Given the description of an element on the screen output the (x, y) to click on. 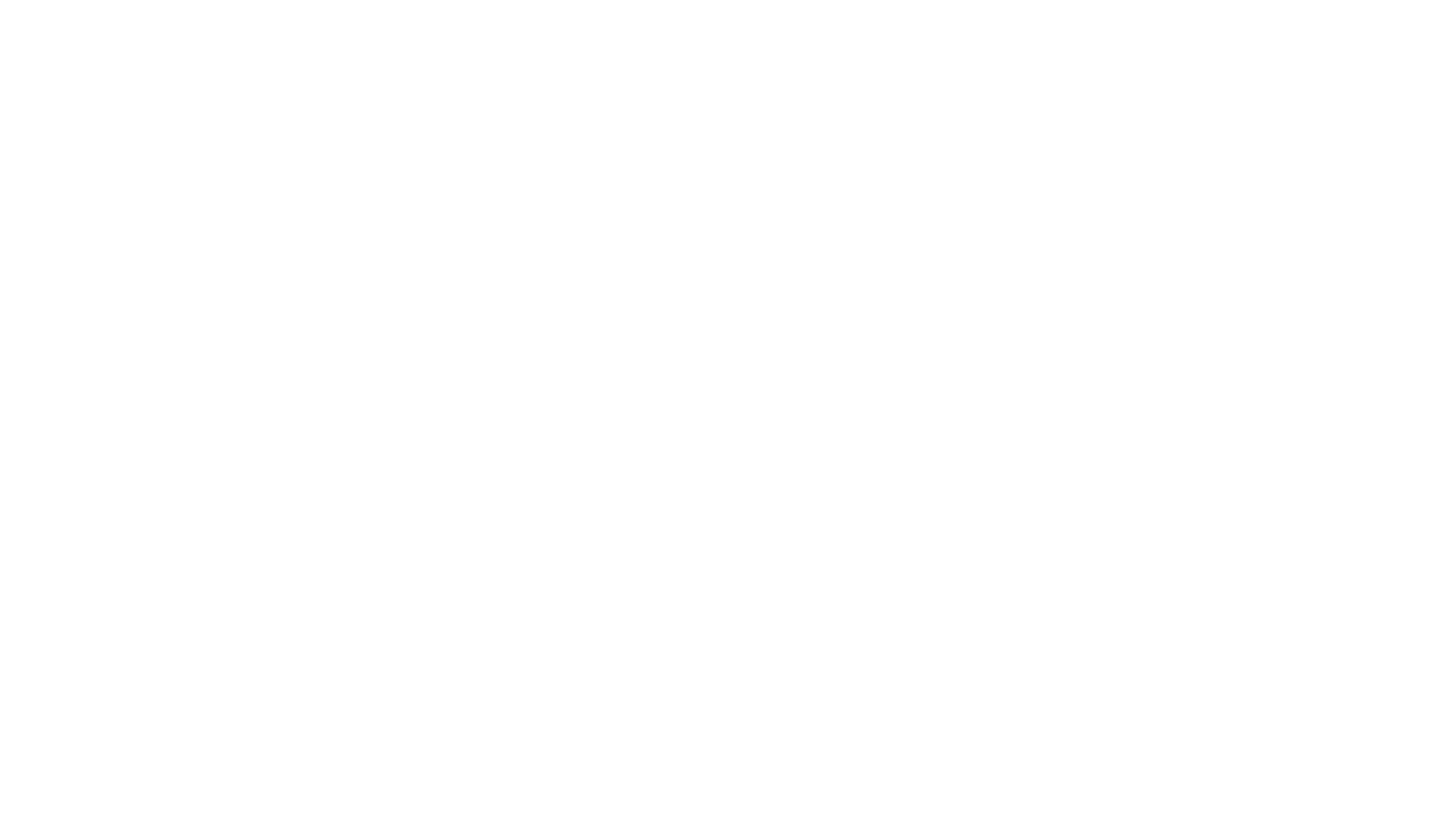
Cloudflare Element type: text (798, 799)
